Given the description of an element on the screen output the (x, y) to click on. 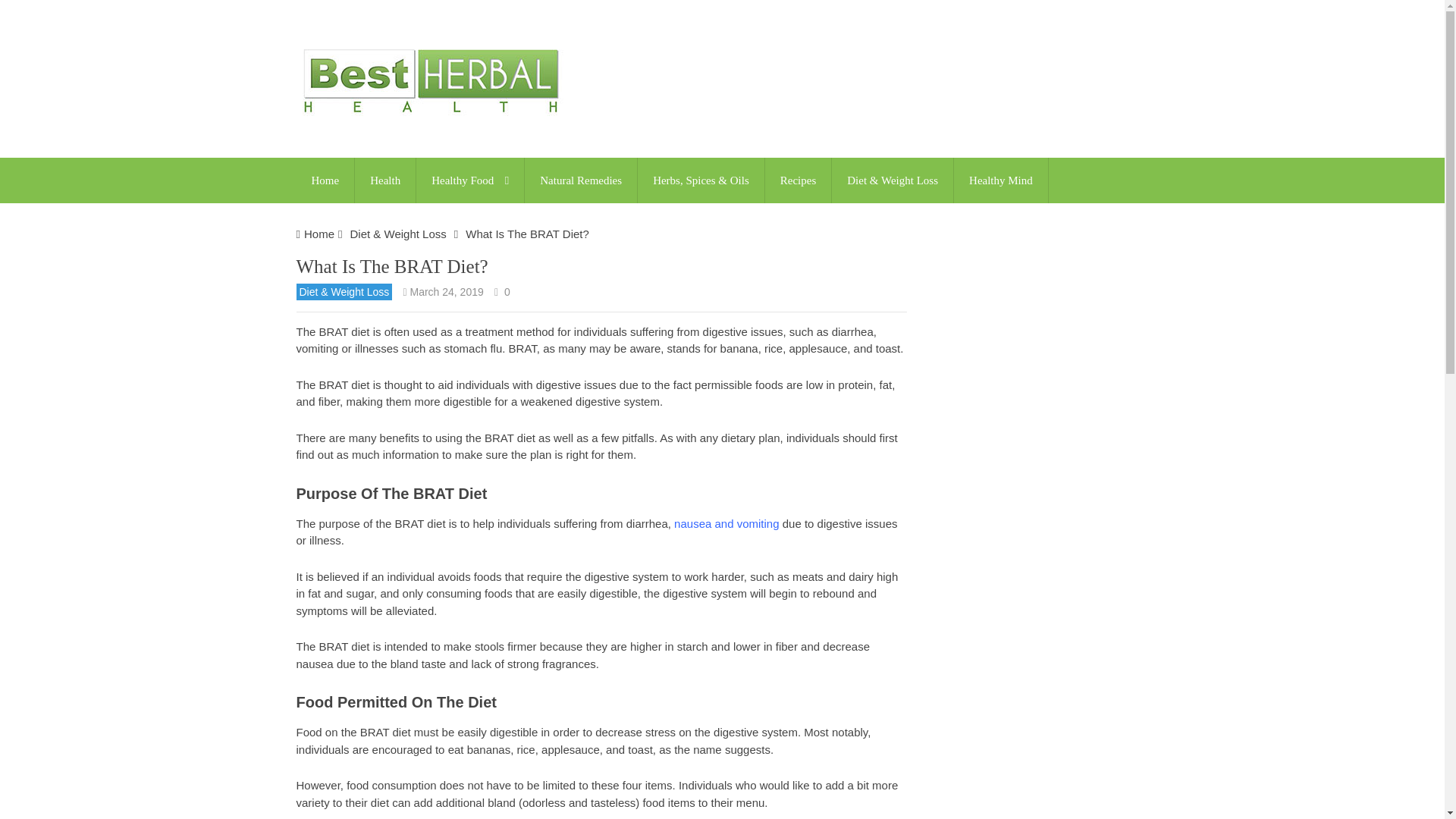
Recipes (798, 180)
Health (384, 180)
Healthy Food (470, 180)
nausea and vomiting (726, 522)
Home (319, 233)
0 (506, 291)
Healthy Mind (1000, 180)
Home (324, 180)
Natural Remedies (580, 180)
